Given the description of an element on the screen output the (x, y) to click on. 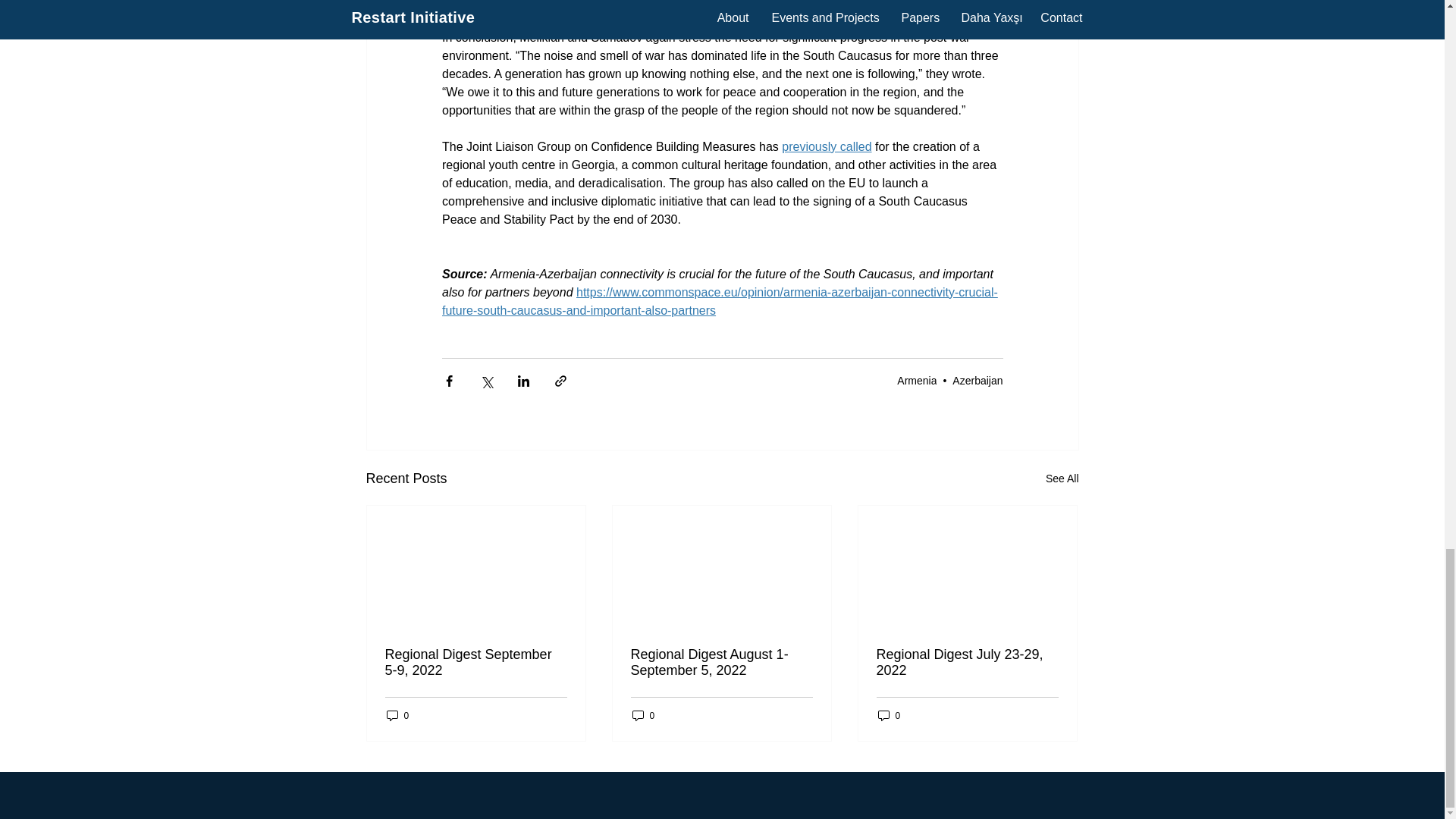
Azerbaijan (977, 380)
Regional Digest August 1-September 5, 2022 (721, 662)
See All (1061, 478)
previously called (825, 146)
0 (397, 715)
Armenia (916, 380)
Regional Digest July 23-29, 2022 (967, 662)
0 (643, 715)
Regional Digest September 5-9, 2022 (476, 662)
